Given the description of an element on the screen output the (x, y) to click on. 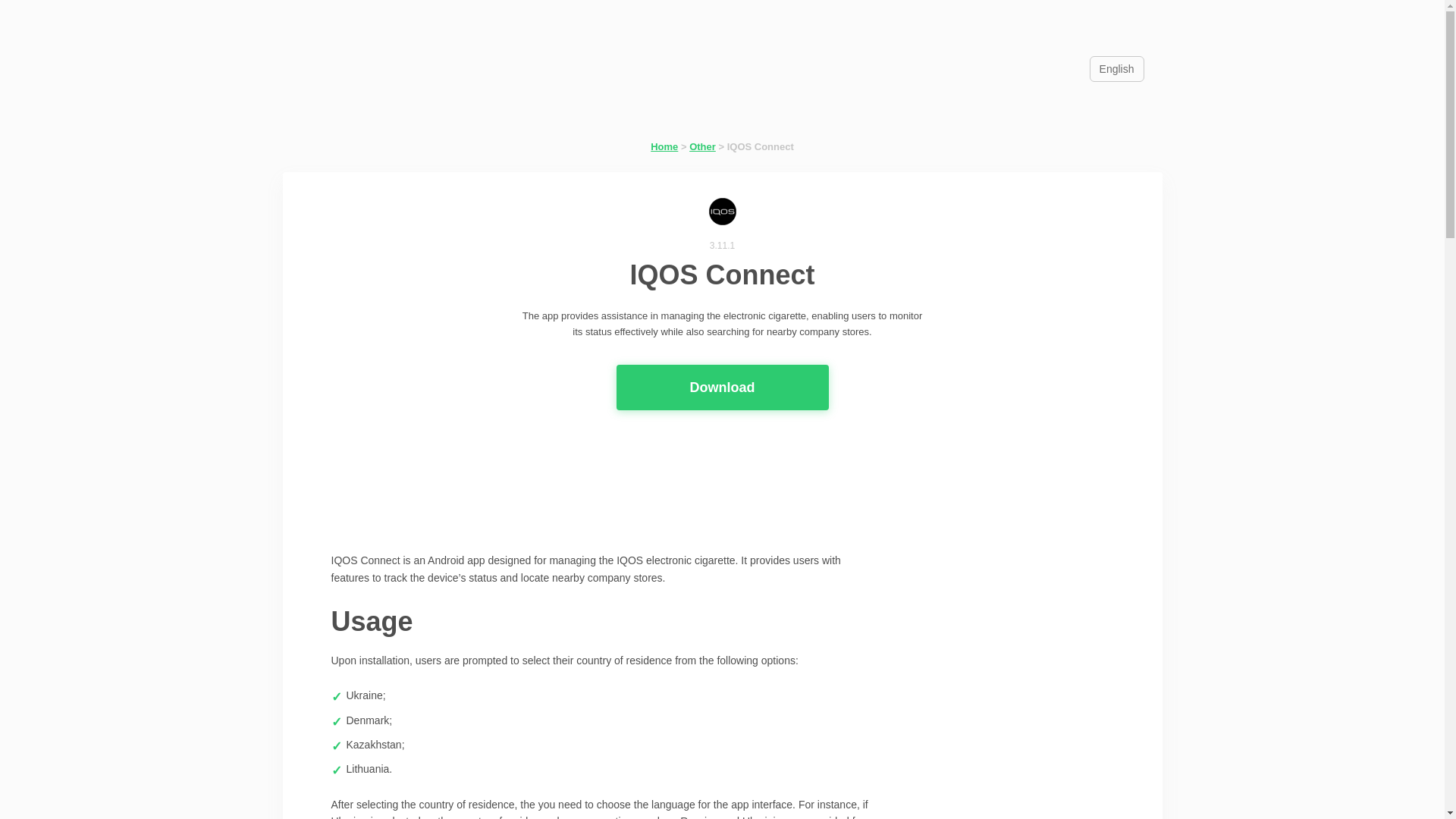
Download (721, 387)
Other (702, 146)
3 (721, 434)
4 (743, 434)
1 (678, 434)
5 (764, 434)
Home (664, 146)
2 (700, 434)
